Given the description of an element on the screen output the (x, y) to click on. 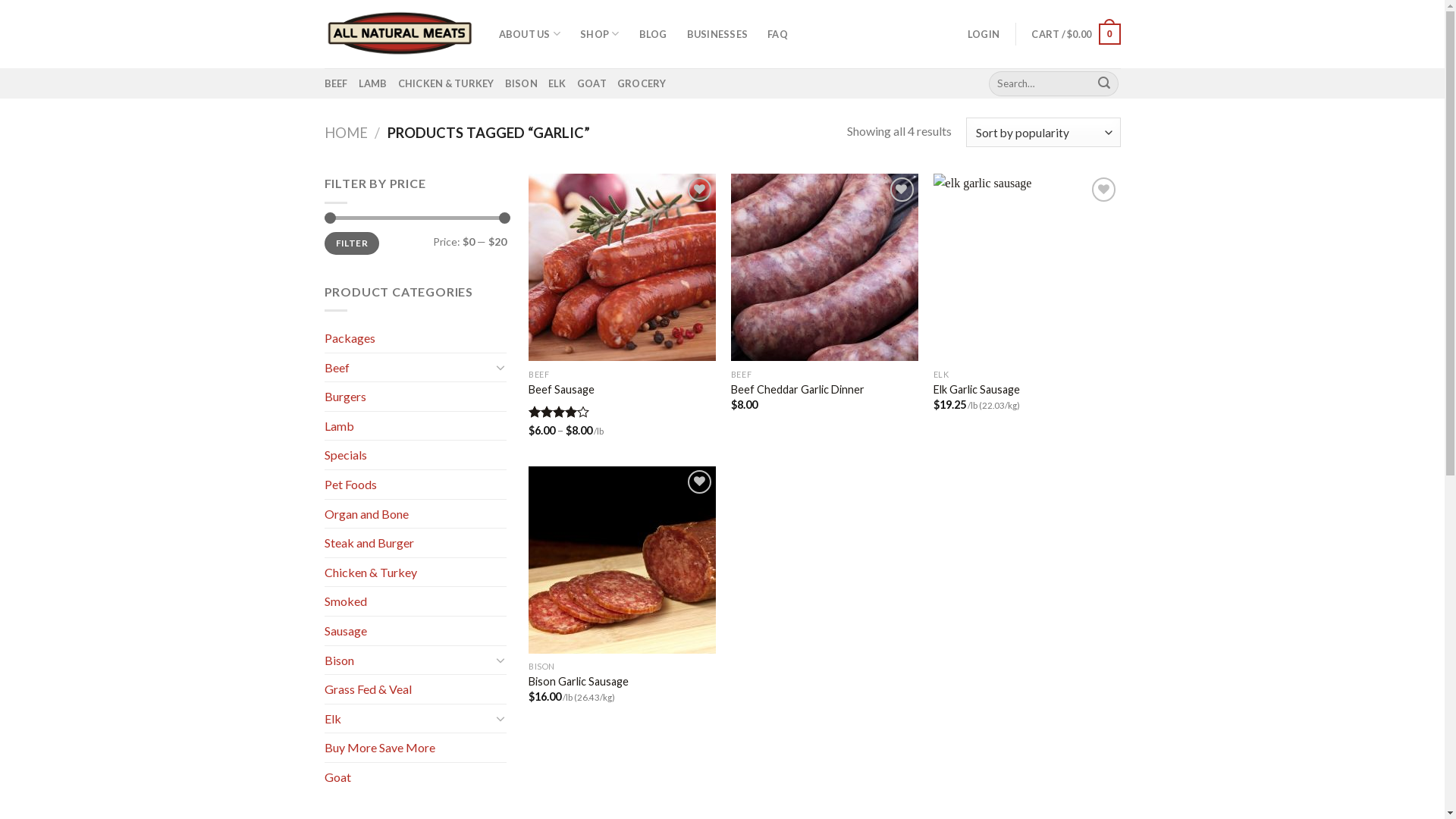
GOAT Element type: text (591, 83)
HOME Element type: text (345, 132)
FILTER Element type: text (351, 243)
BUSINESSES Element type: text (717, 33)
Sausage Element type: text (415, 630)
Beef Cheddar Garlic Dinner Element type: text (797, 389)
Grass Fed & Veal Element type: text (415, 688)
Burgers Element type: text (415, 396)
Bison Element type: text (407, 660)
Packages Element type: text (415, 337)
LAMB Element type: text (372, 83)
BISON Element type: text (521, 83)
Goat Element type: text (415, 776)
Bison Garlic Sausage Element type: text (578, 681)
Pet Foods Element type: text (415, 484)
ABOUT US Element type: text (529, 33)
Organ and Bone Element type: text (415, 513)
CART / $0.00
0 Element type: text (1075, 33)
Elk Element type: text (407, 718)
FAQ Element type: text (777, 33)
Buy More Save More Element type: text (415, 747)
Specials Element type: text (415, 454)
Search Element type: text (1104, 83)
Steak and Burger Element type: text (415, 542)
Lamb Element type: text (415, 425)
BLOG Element type: text (652, 33)
Elk Garlic Sausage Element type: text (976, 389)
GROCERY Element type: text (641, 83)
Beef Sausage Element type: text (561, 389)
CHICKEN & TURKEY Element type: text (446, 83)
Chicken & Turkey Element type: text (415, 572)
BEEF Element type: text (336, 83)
LOGIN Element type: text (983, 33)
Smoked Element type: text (415, 600)
ELK Element type: text (557, 83)
All Natural Meats Element type: hover (400, 33)
Beef Element type: text (407, 367)
SHOP Element type: text (599, 33)
